Given the description of an element on the screen output the (x, y) to click on. 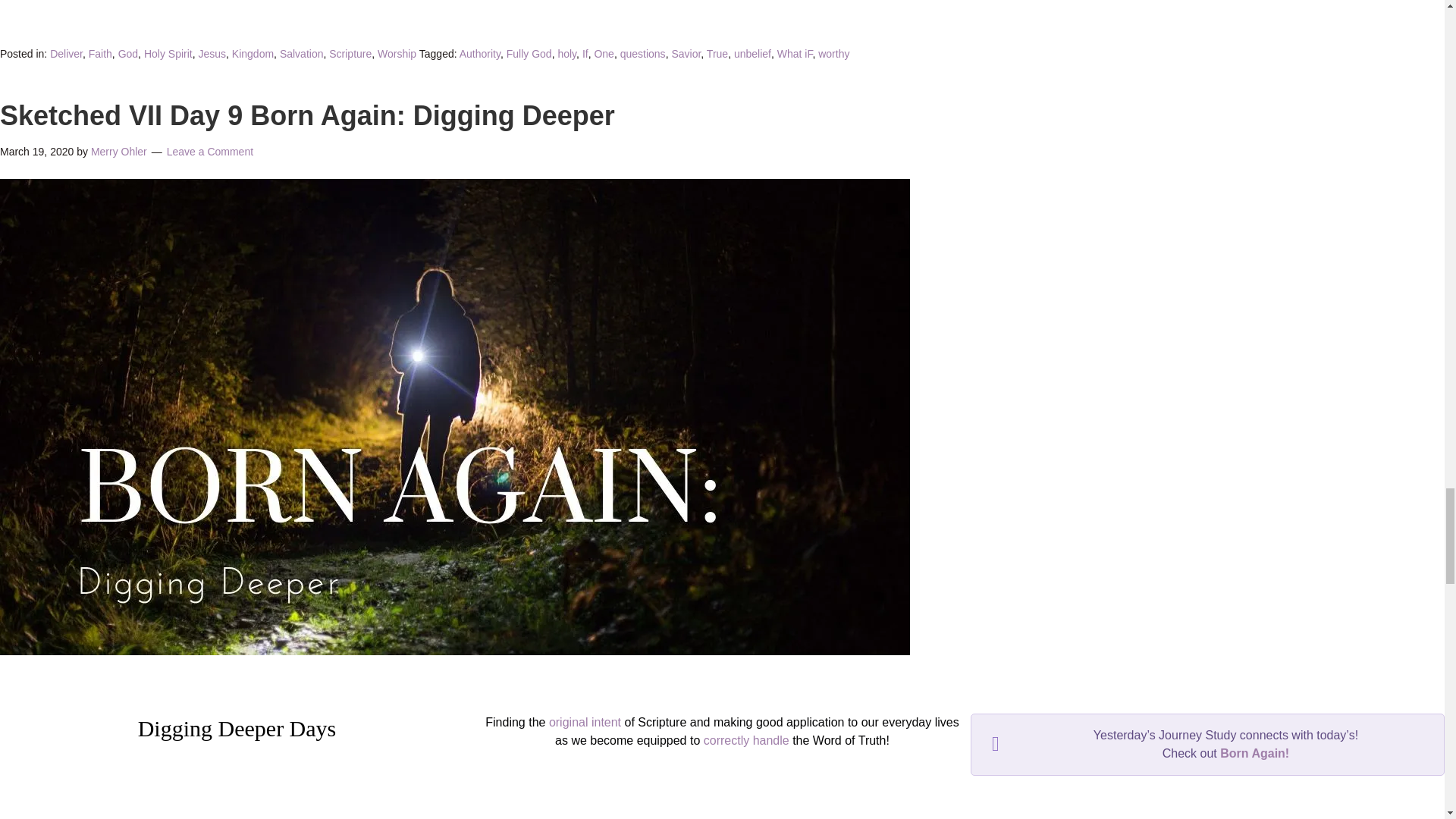
Thursday, March 19, 2020, 3:00 am (37, 151)
Posts by Merry Ohler (118, 151)
Sketched VII Day 9 Born Again: Digging Deeper (455, 650)
